Given the description of an element on the screen output the (x, y) to click on. 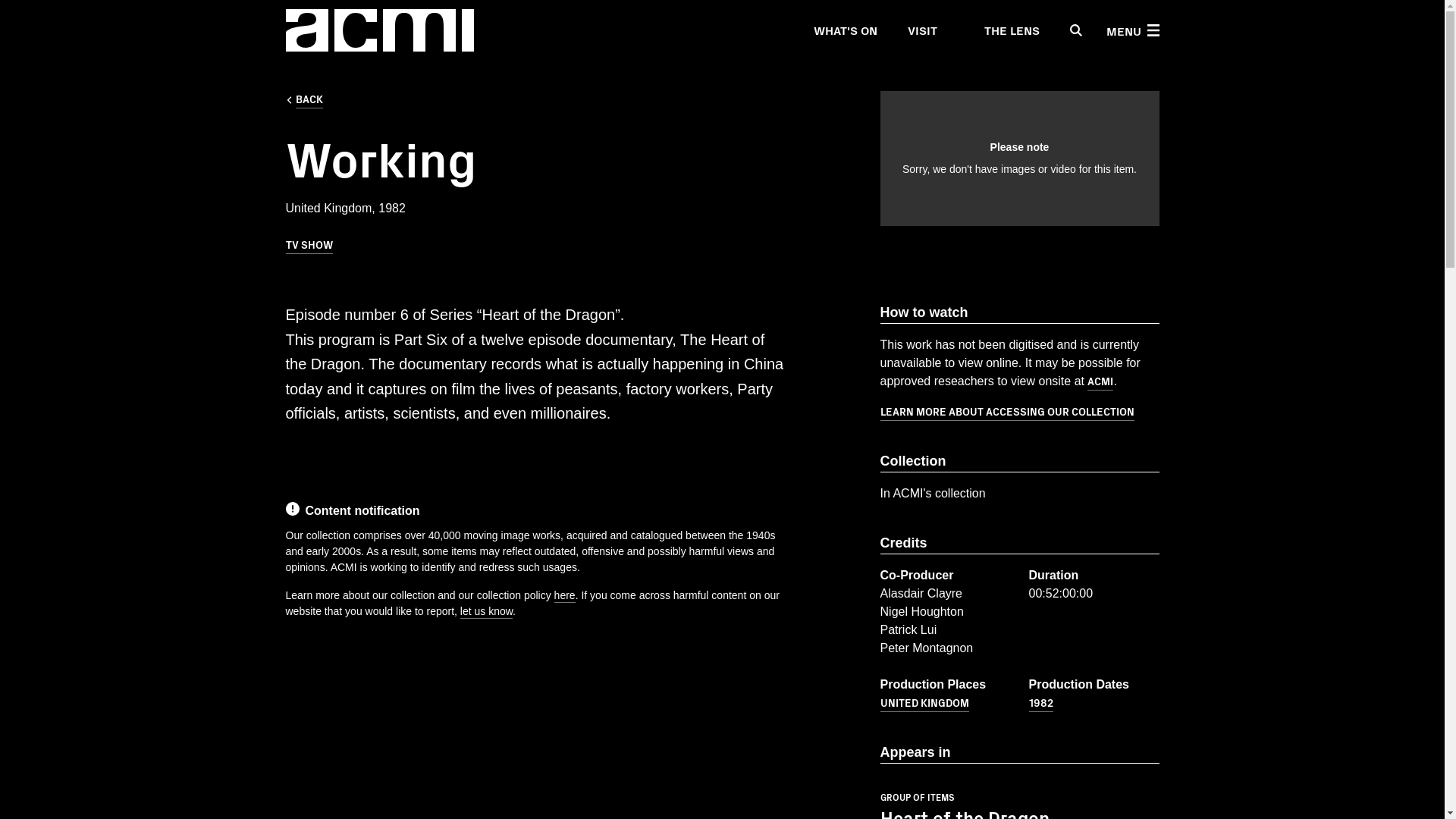
THE LENS (1003, 30)
MENU (1131, 29)
WHAT'S ON (844, 30)
VISIT (921, 30)
